Given the description of an element on the screen output the (x, y) to click on. 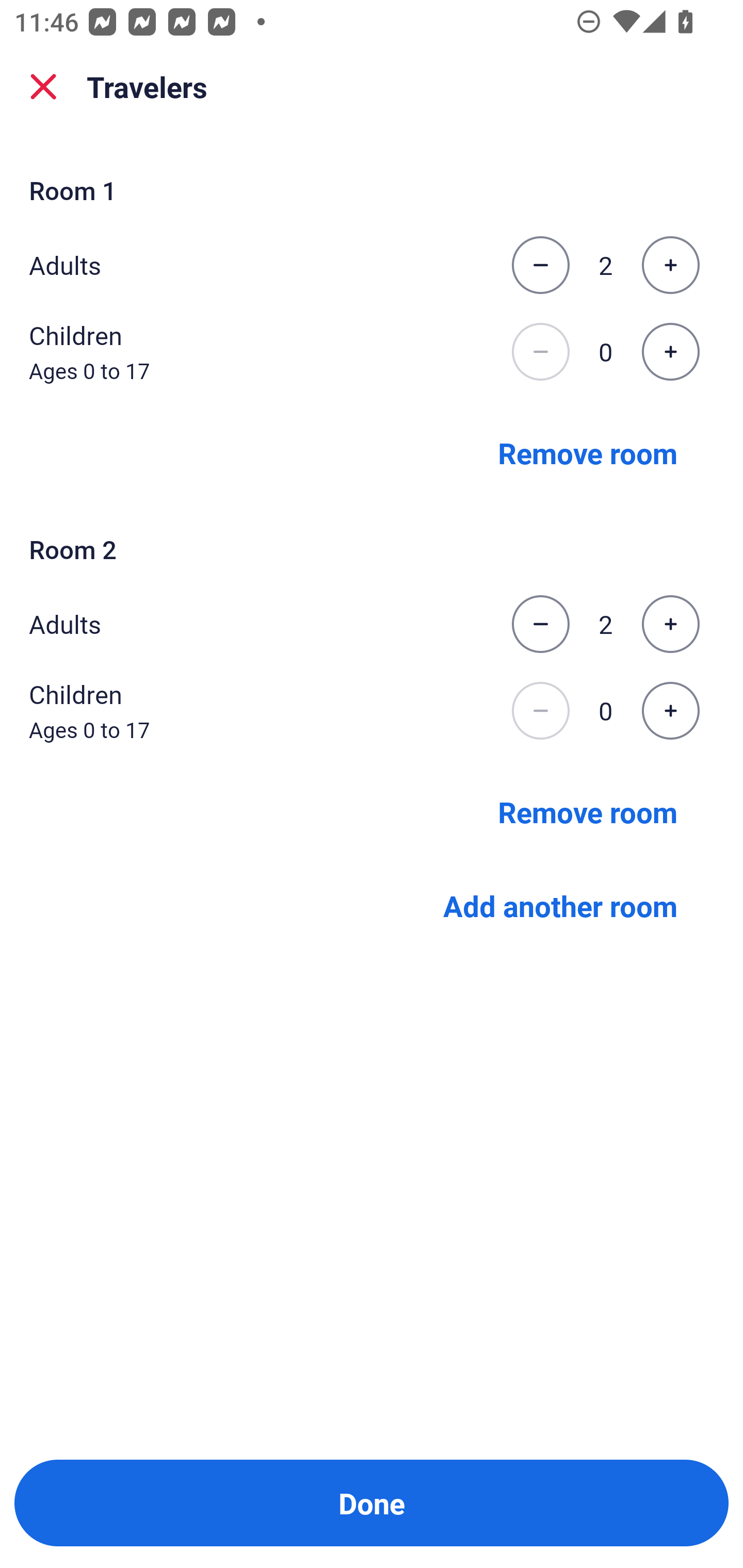
close (43, 86)
Decrease the number of adults (540, 264)
Increase the number of adults (670, 264)
Decrease the number of children (540, 351)
Increase the number of children (670, 351)
Remove room (588, 452)
Decrease the number of adults (540, 623)
Increase the number of adults (670, 623)
Decrease the number of children (540, 710)
Increase the number of children (670, 710)
Remove room (588, 811)
Add another room (560, 905)
Done (371, 1502)
